Given the description of an element on the screen output the (x, y) to click on. 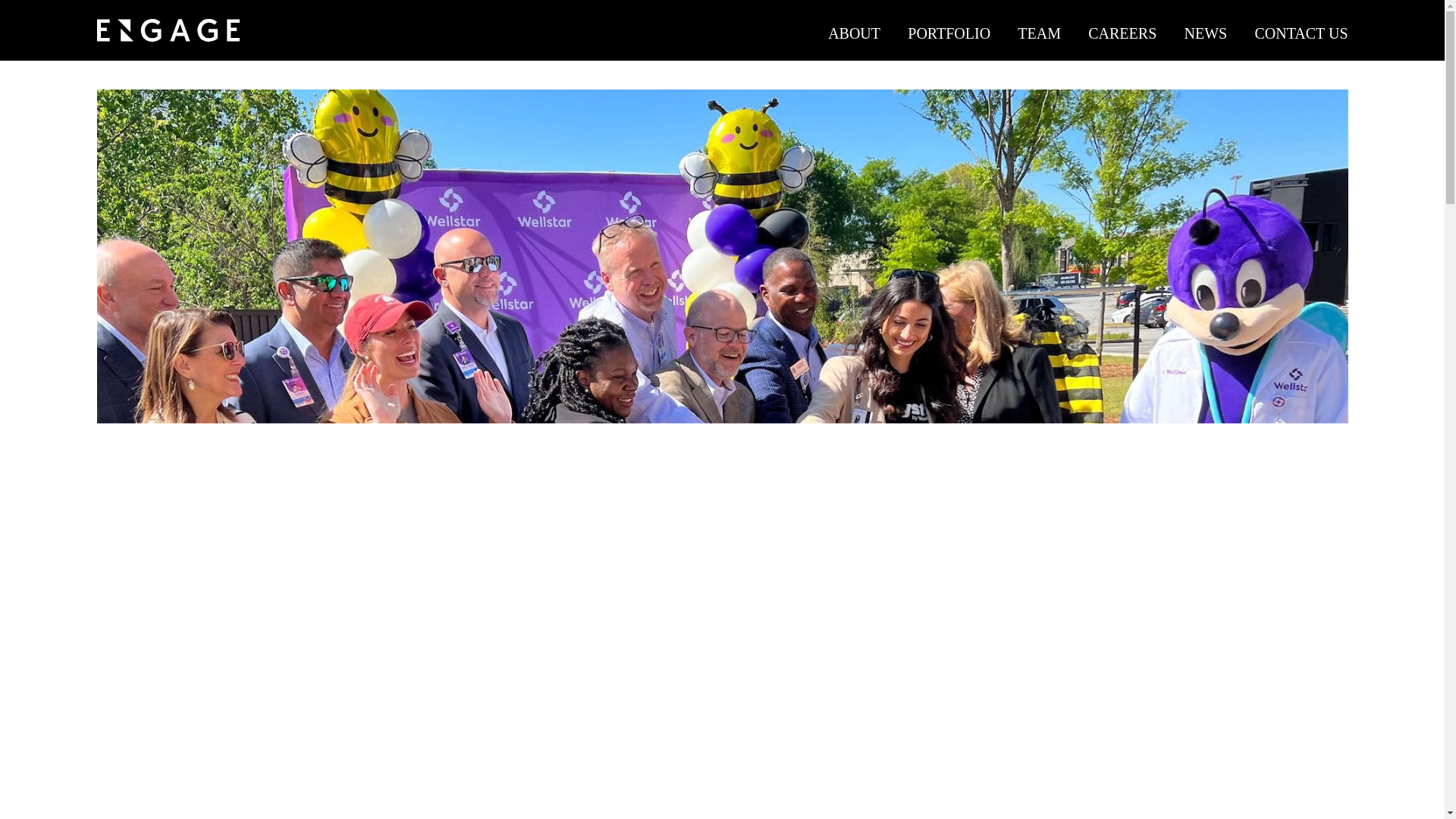
TEAM (1039, 32)
CONTACT US (1300, 32)
CAREERS (1121, 32)
NEWS (1206, 32)
ABOUT (854, 32)
PORTFOLIO (948, 32)
